Given the description of an element on the screen output the (x, y) to click on. 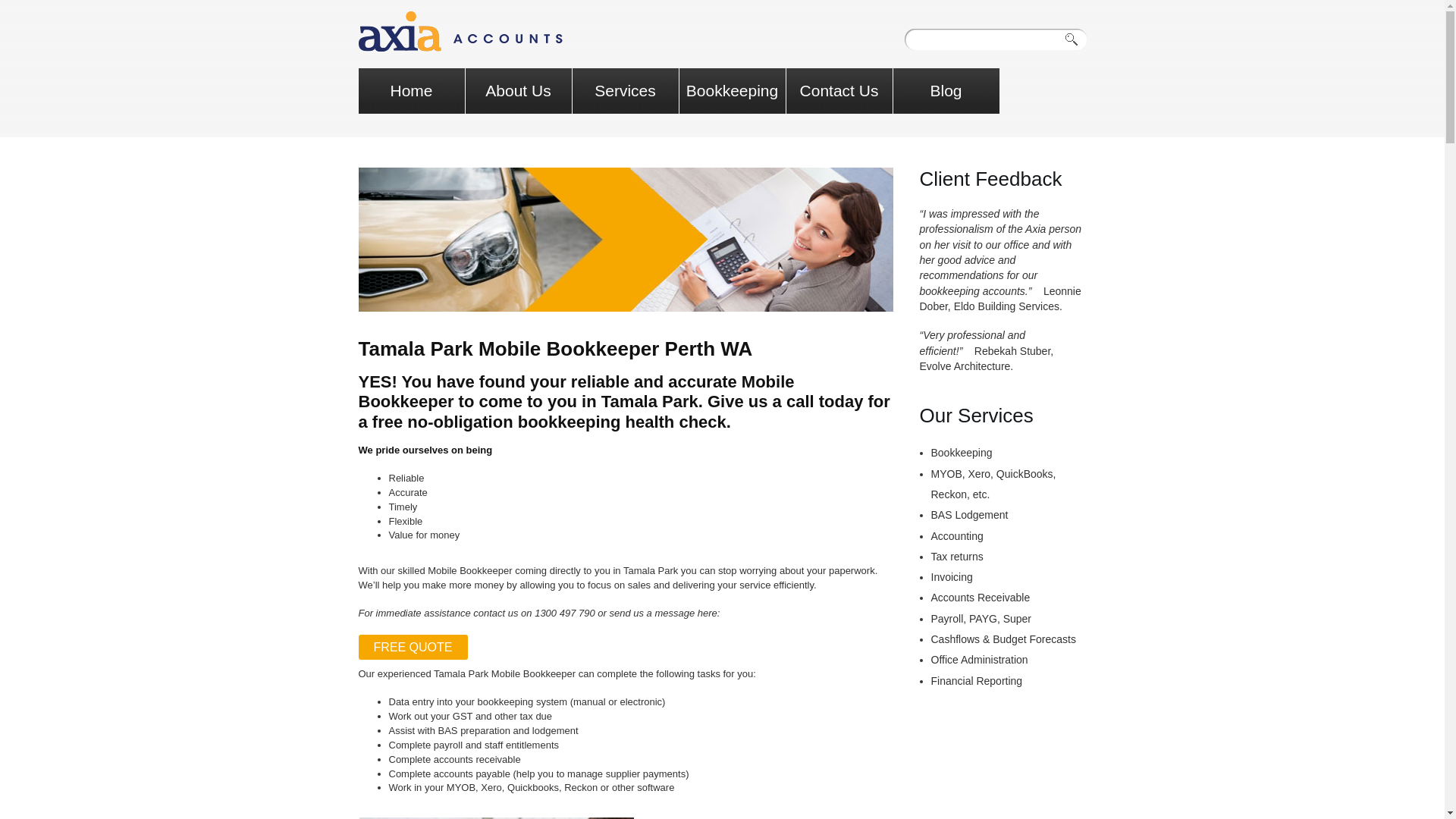
Blog (945, 90)
Bookkeeping (732, 90)
Axia Accounts Bookkeeping (460, 31)
FREE QUOTE (412, 647)
About Us (518, 90)
Search (1075, 39)
Contact Us (838, 90)
Home (411, 90)
Services (625, 90)
Search (1075, 39)
Search (1075, 39)
